Given the description of an element on the screen output the (x, y) to click on. 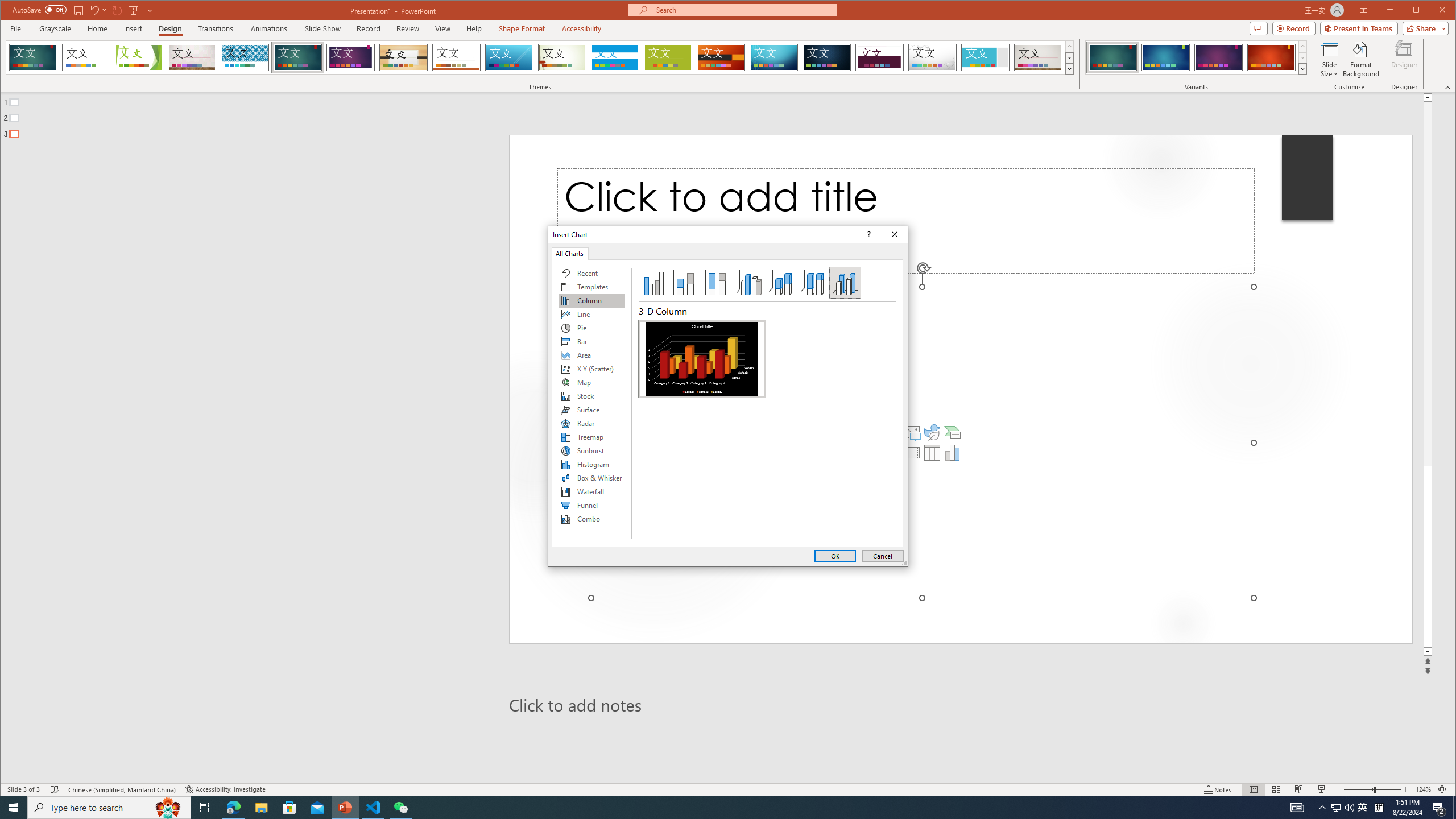
Organic (403, 57)
Histogram (591, 464)
Clustered Column (653, 282)
3-D Stacked Column (781, 282)
Templates (591, 287)
Facet (138, 57)
AutomationID: SlideThemesGallery (540, 57)
